Given the description of an element on the screen output the (x, y) to click on. 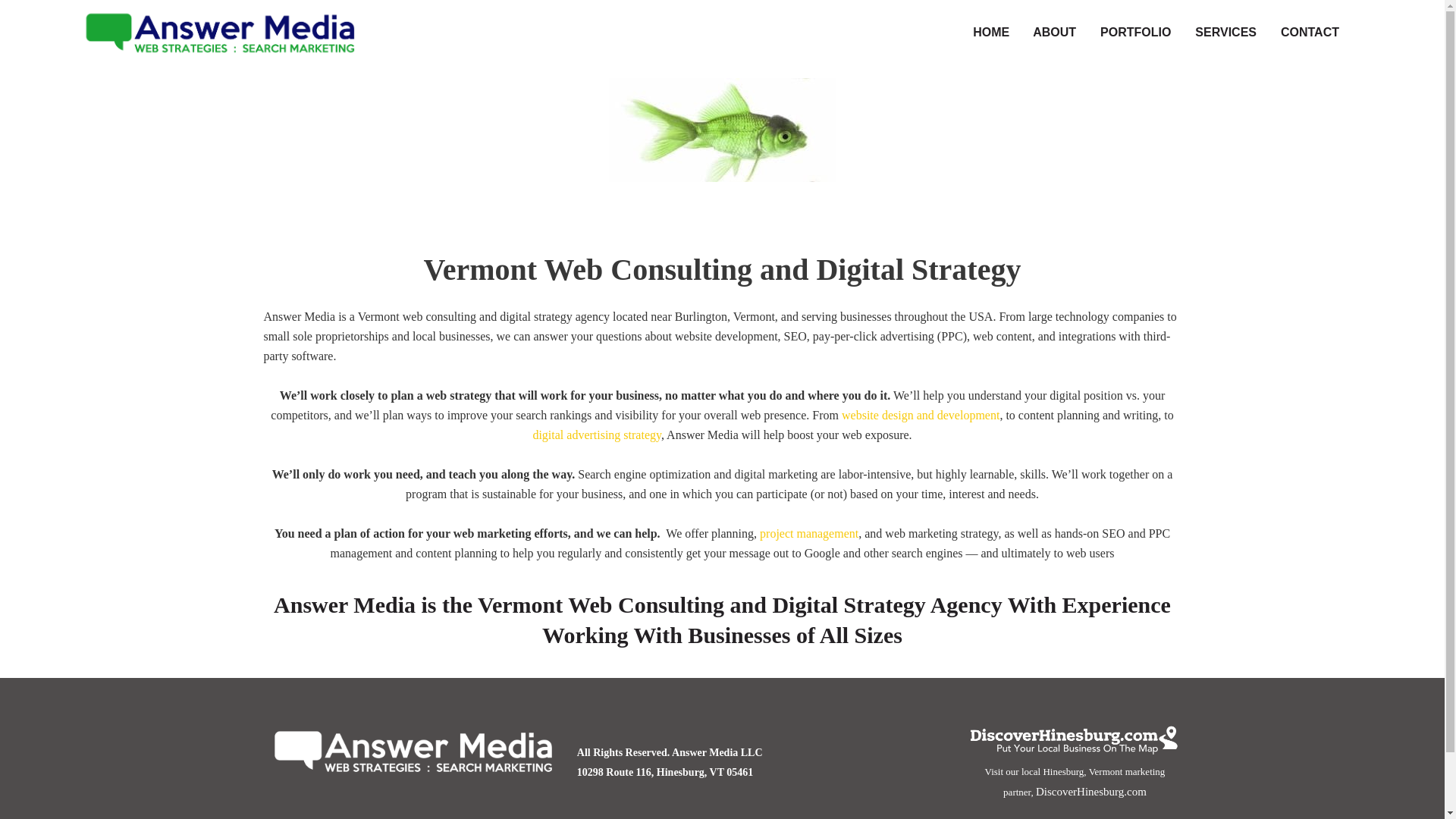
project management (809, 533)
website design and development (919, 414)
CONTACT (1310, 32)
digital advertising strategy (596, 434)
stand-out-of-crowd (721, 129)
DiscoverHinesburg.com (1091, 791)
PORTFOLIO (1135, 32)
SERVICES (1225, 32)
